Given the description of an element on the screen output the (x, y) to click on. 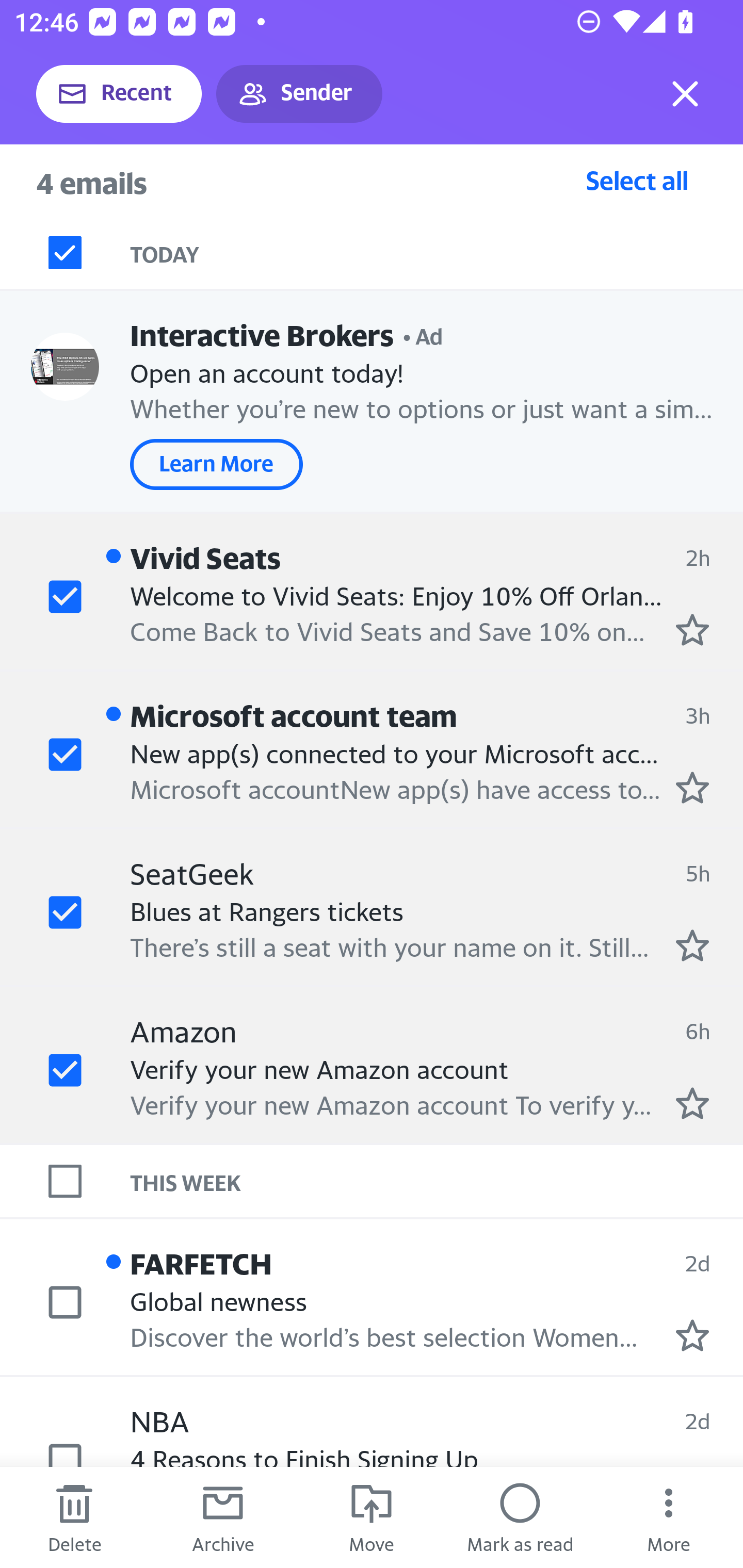
Sender (299, 93)
Exit selection mode (684, 93)
Select all (637, 180)
TODAY (436, 252)
Mark as starred. (692, 629)
Mark as starred. (692, 787)
Mark as starred. (692, 944)
Mark as starred. (692, 1103)
THIS WEEK (436, 1181)
Mark as starred. (692, 1335)
Delete (74, 1517)
Archive (222, 1517)
Move (371, 1517)
Mark as read (519, 1517)
More (668, 1517)
